Given the description of an element on the screen output the (x, y) to click on. 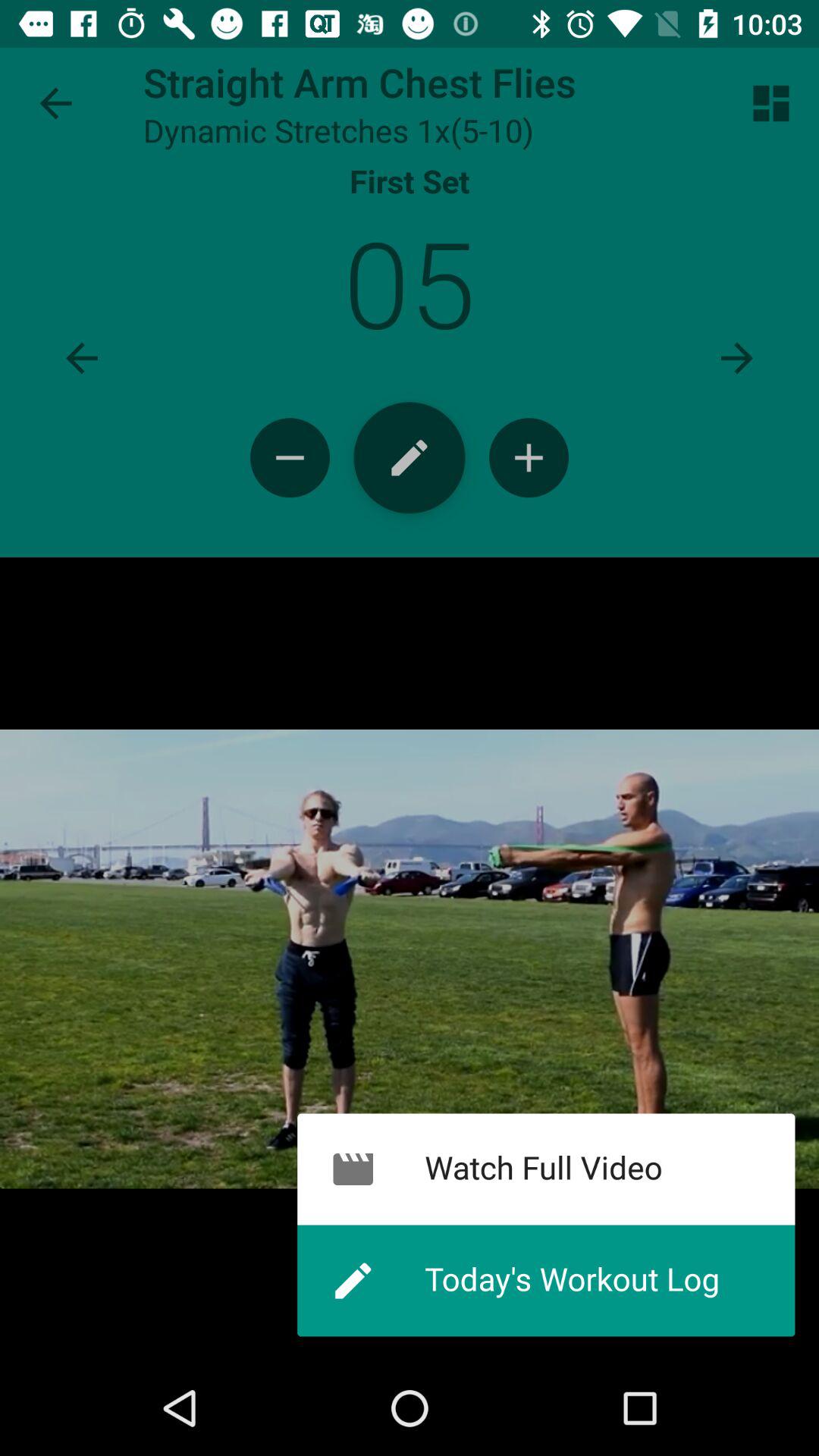
next video (737, 358)
